Given the description of an element on the screen output the (x, y) to click on. 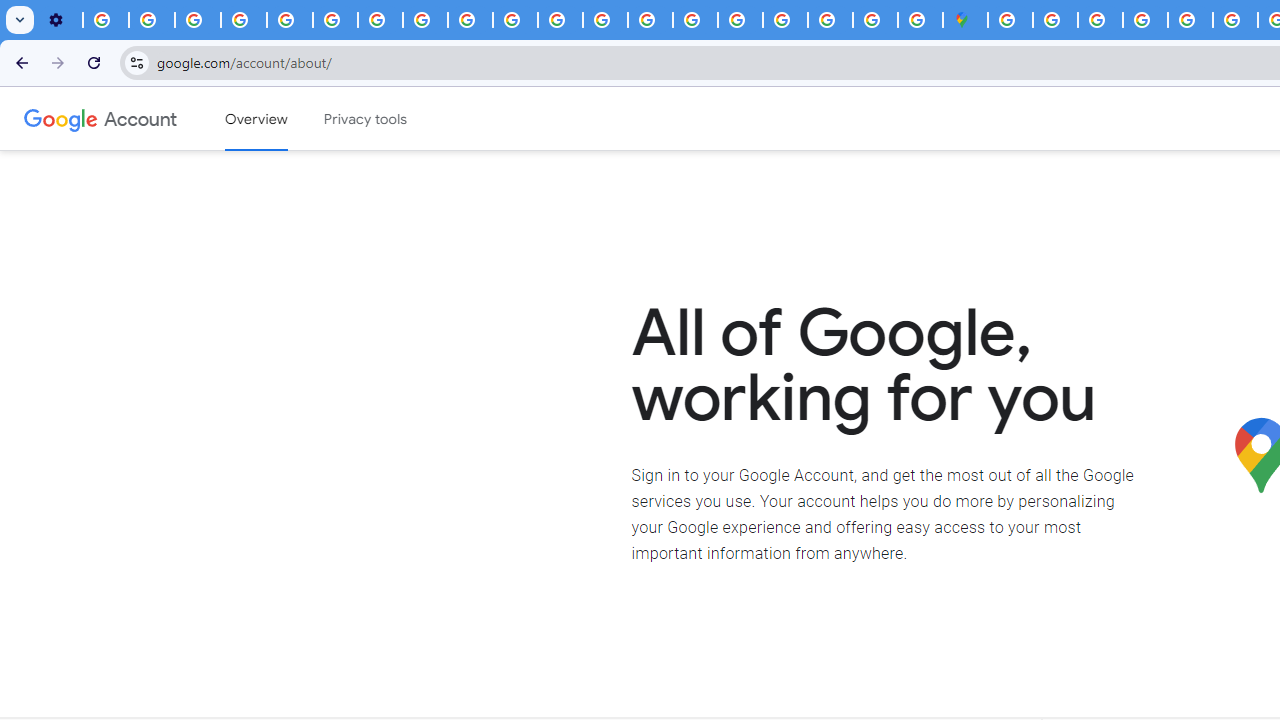
Google Maps (965, 20)
Settings - Customize profile (60, 20)
https://scholar.google.com/ (559, 20)
Sign in - Google Accounts (784, 20)
Privacy Help Center - Policies Help (1235, 20)
Google Account (140, 118)
Privacy Help Center - Policies Help (605, 20)
